Given the description of an element on the screen output the (x, y) to click on. 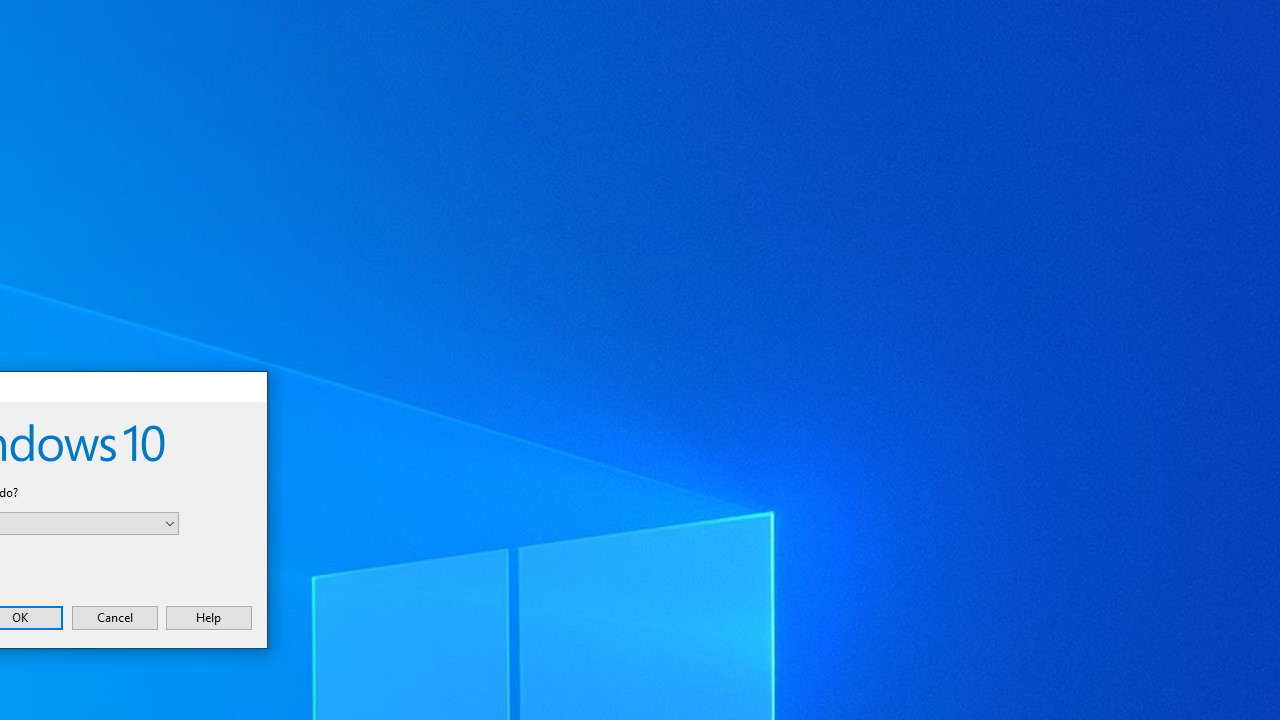
Cancel (114, 617)
Open (169, 523)
